Given the description of an element on the screen output the (x, y) to click on. 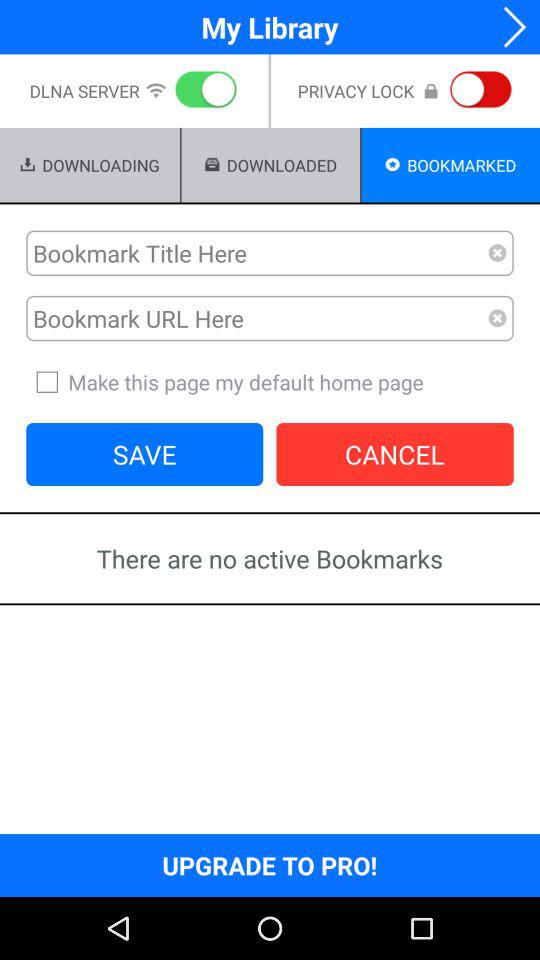
turn off the make this page icon (269, 382)
